Given the description of an element on the screen output the (x, y) to click on. 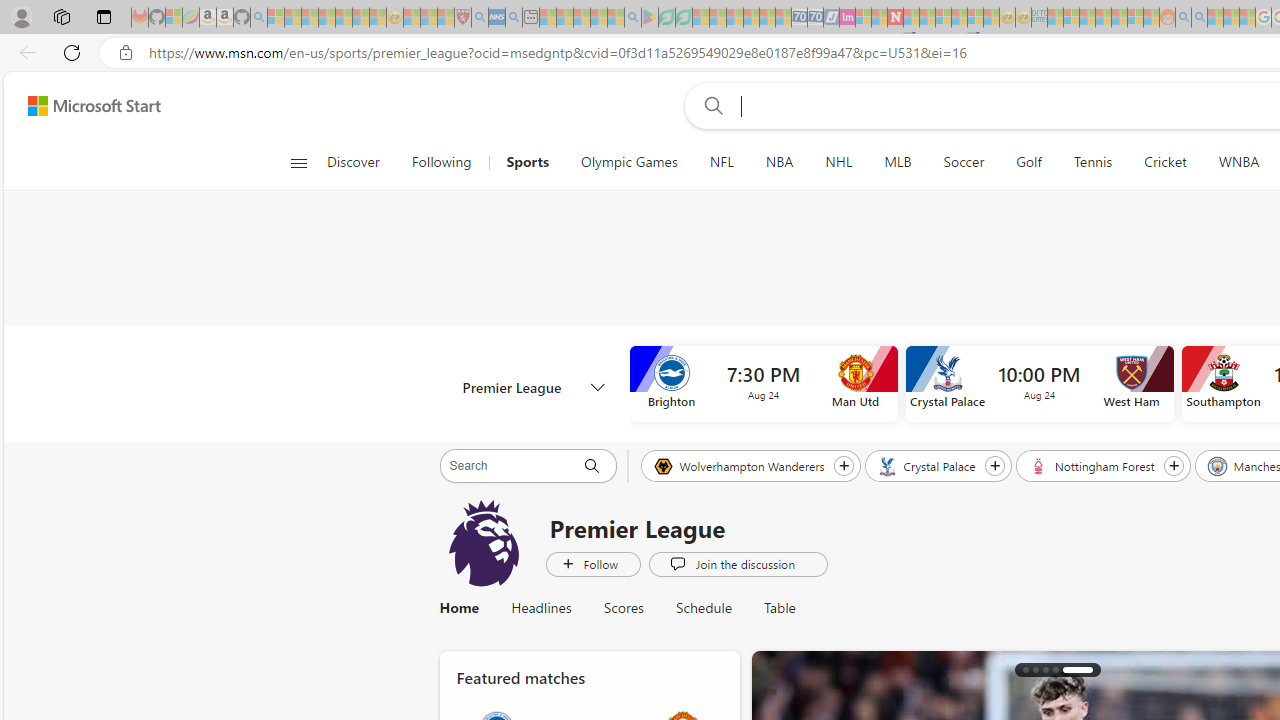
NFL (721, 162)
Nottingham Forest (1092, 465)
NFL (721, 162)
